Given the description of an element on the screen output the (x, y) to click on. 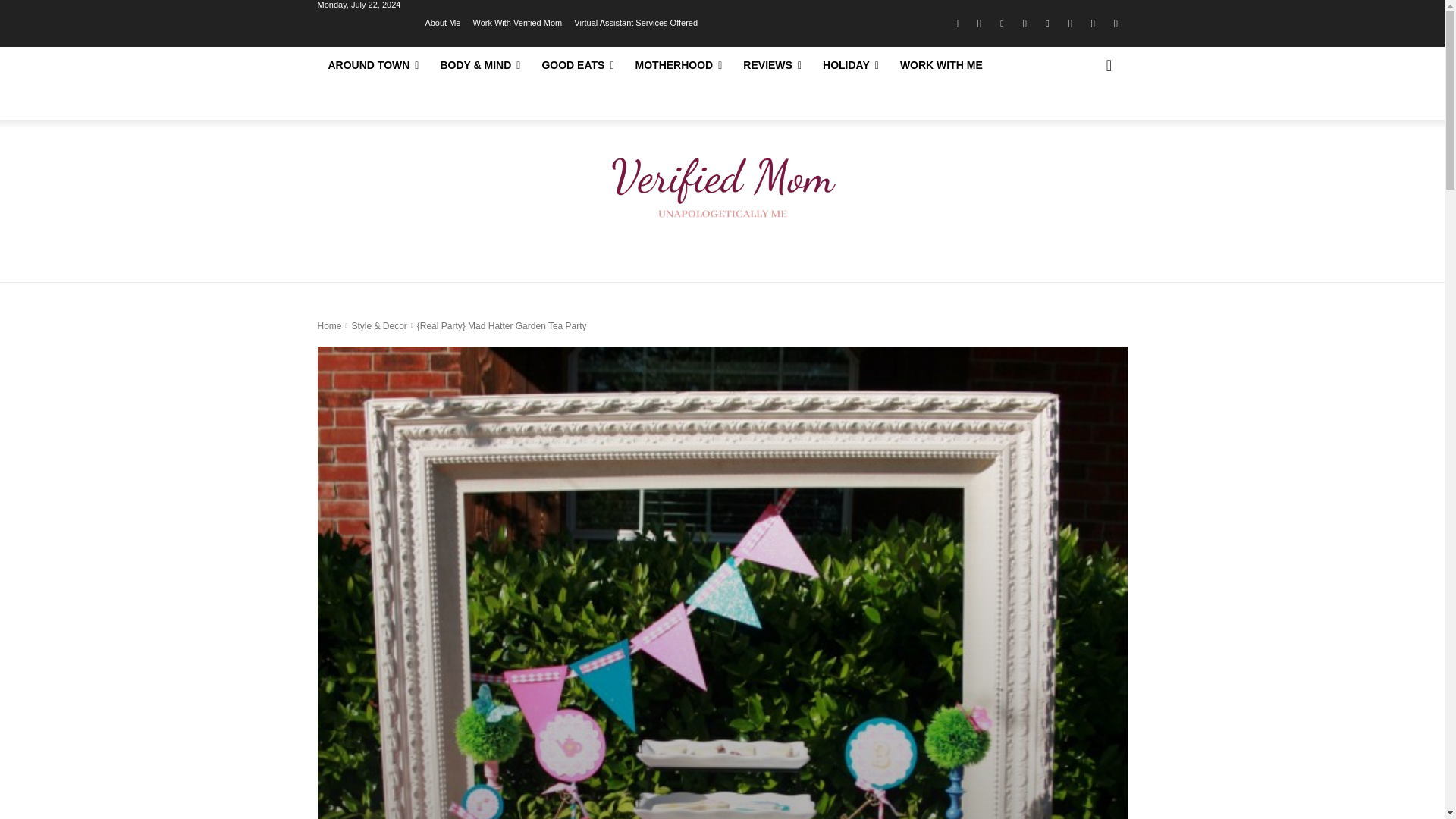
About Me (442, 22)
Virtual Assistant Services Offered (635, 22)
Mail (1024, 23)
AROUND TOWN (373, 64)
Instagram (979, 23)
Pinterest (1046, 23)
Facebook (956, 23)
Work With Verified Mom (516, 22)
Linkedin (1001, 23)
